Given the description of an element on the screen output the (x, y) to click on. 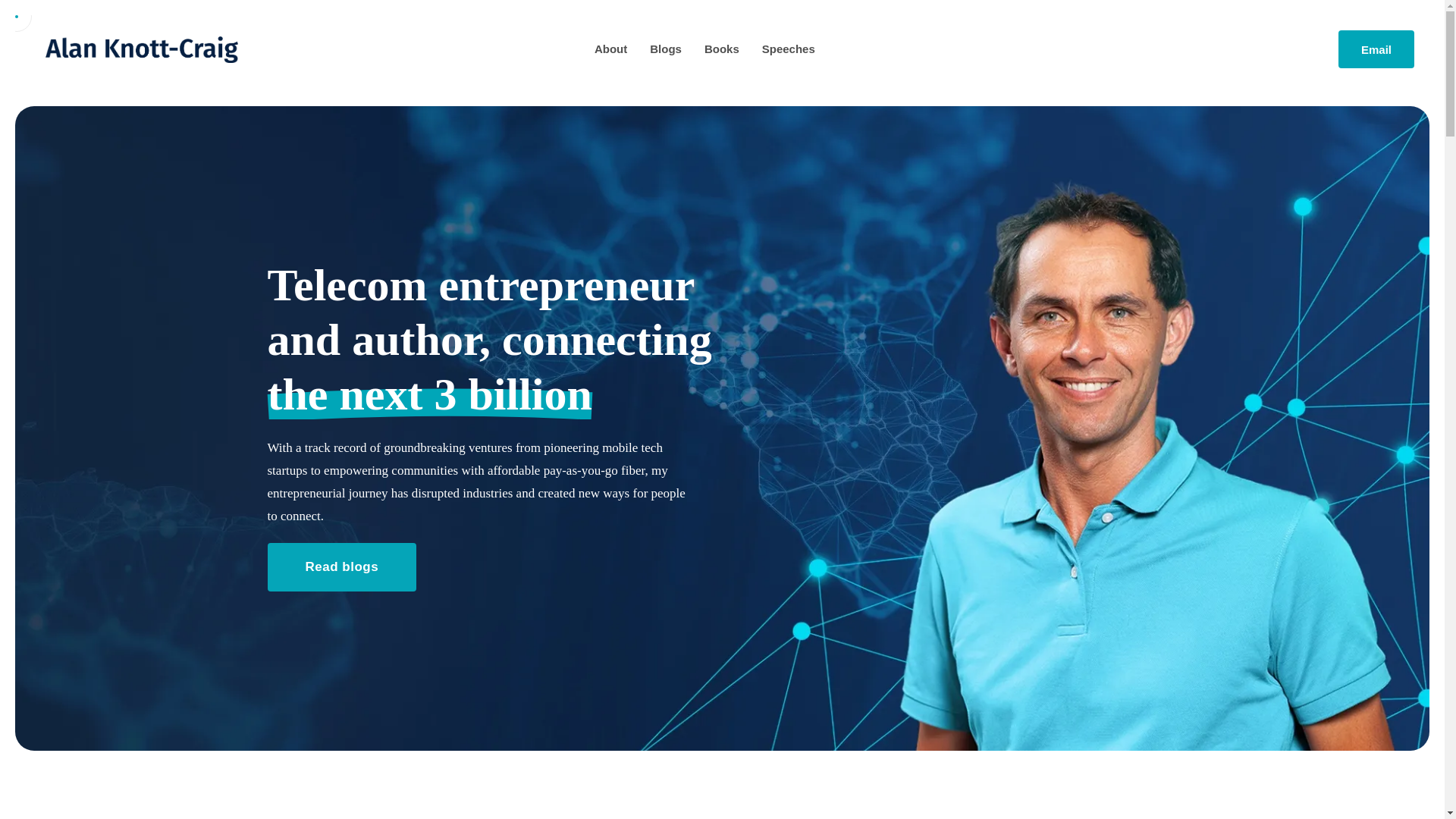
Read blogs (341, 566)
Books (721, 48)
Search (22, 18)
Speeches (788, 48)
About (610, 48)
Blogs (665, 48)
